Given the description of an element on the screen output the (x, y) to click on. 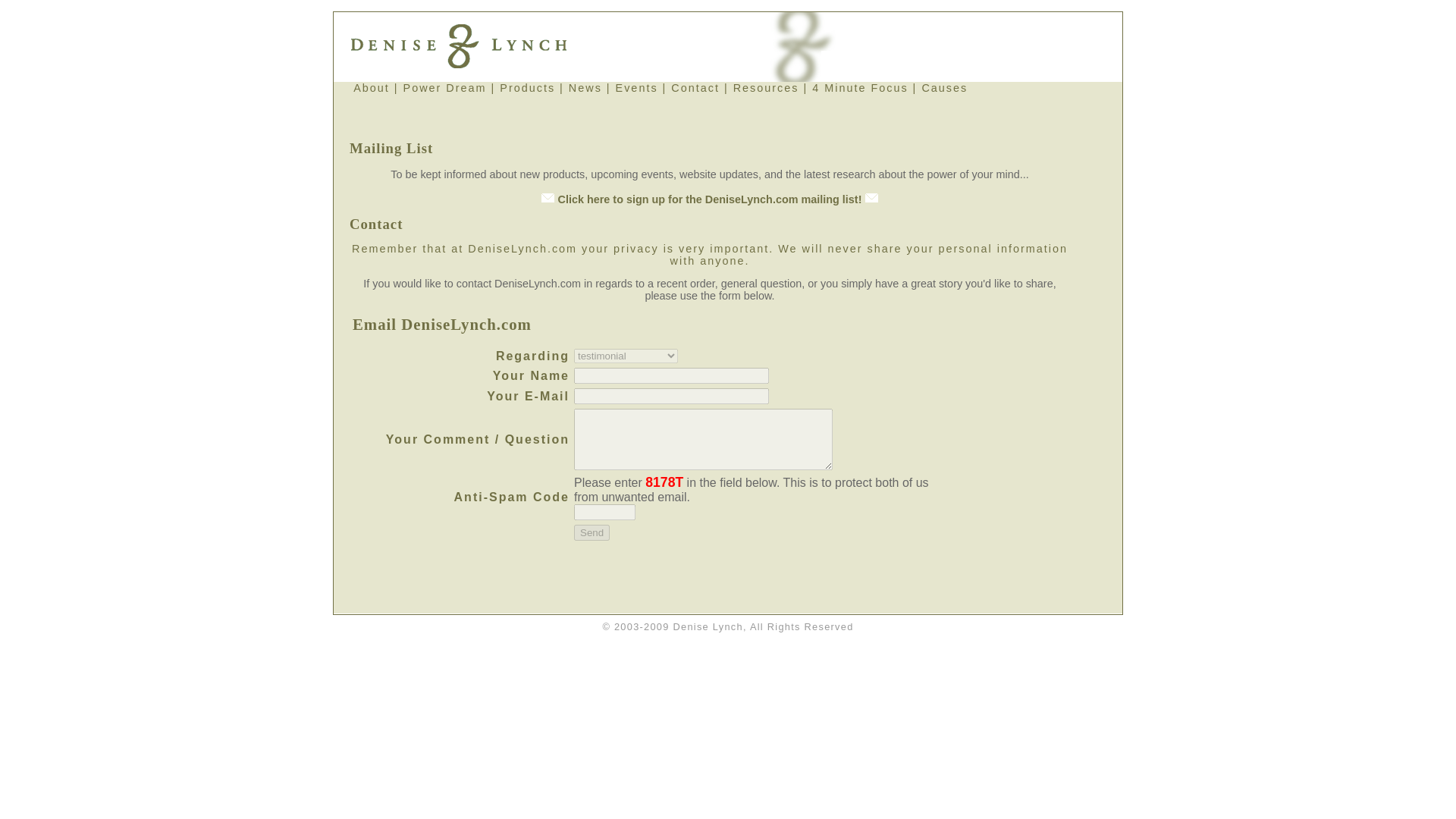
Events (636, 87)
Resources (766, 87)
Power Dream (444, 87)
Click here to sign up for the DeniseLynch.com mailing list! (709, 199)
Causes (944, 87)
News (585, 87)
Contact (695, 87)
your comments here (702, 439)
Products (526, 87)
Send (591, 532)
your email address here - required (670, 396)
About (371, 87)
Send (591, 532)
4 Minute Focus (859, 87)
your name here - required (670, 375)
